Given the description of an element on the screen output the (x, y) to click on. 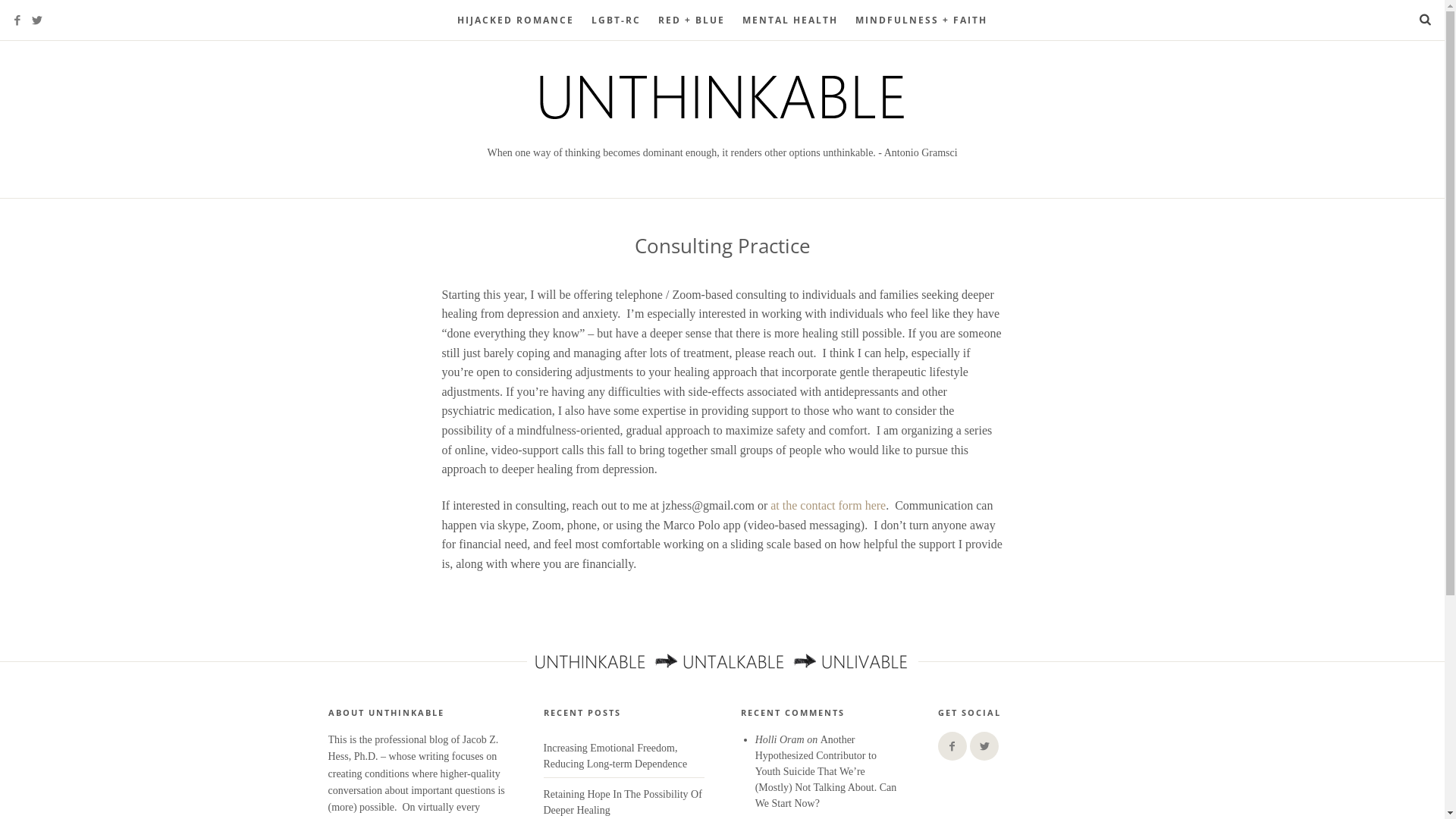
Retaining Hope In The Possibility Of Deeper Healing Element type: text (621, 801)
Increasing Emotional Freedom, Reducing Long-term Dependence Element type: text (614, 755)
RED + BLUE Element type: text (691, 20)
HIJACKED ROMANCE Element type: text (515, 20)
at the contact form here Element type: text (827, 504)
MENTAL HEALTH Element type: text (789, 20)
MINDFULNESS + FAITH Element type: text (921, 20)
LGBT-RC Element type: text (615, 20)
